Given the description of an element on the screen output the (x, y) to click on. 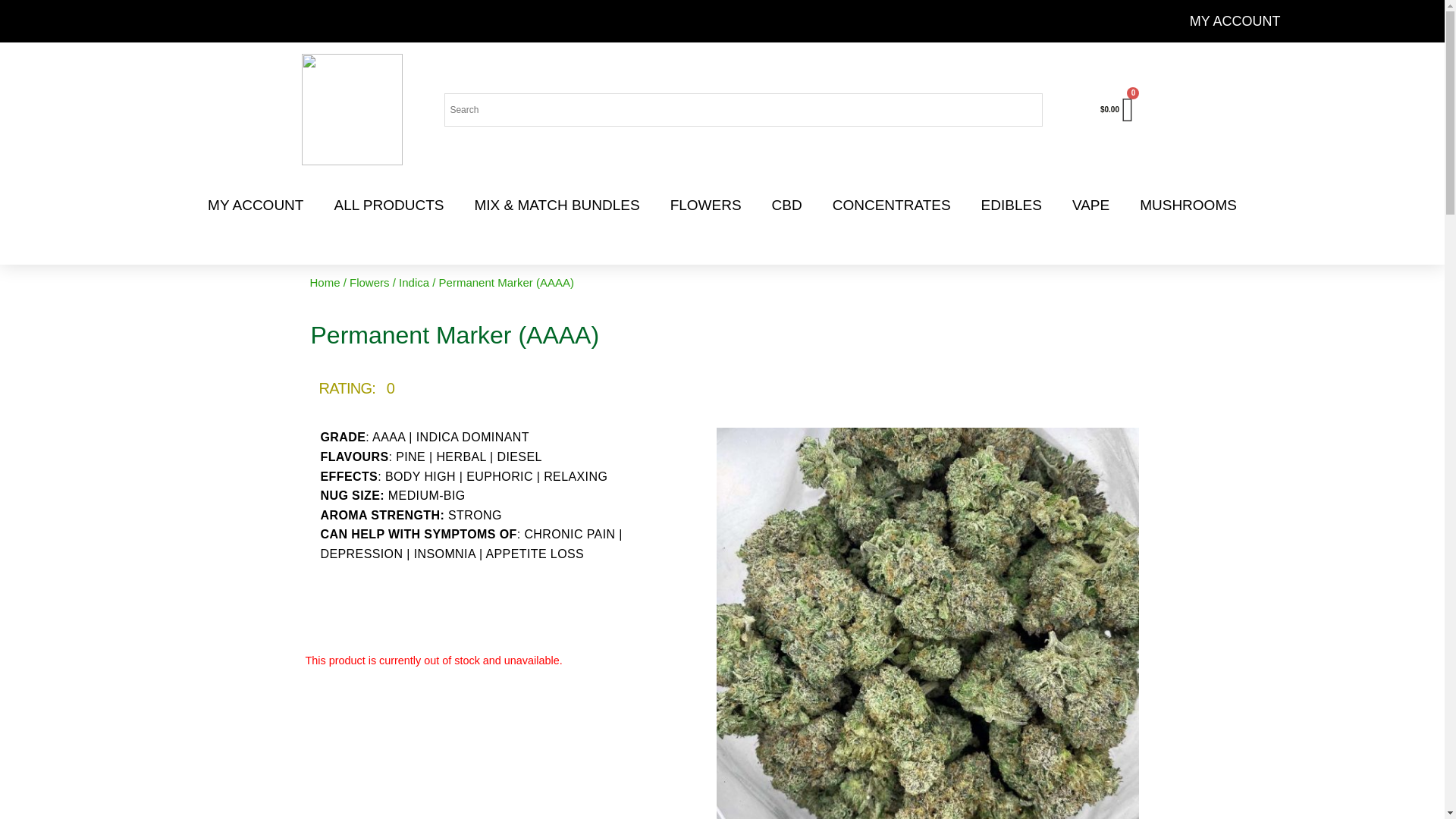
ALL PRODUCTS (388, 205)
MY ACCOUNT (1234, 21)
CBD (786, 205)
FLOWERS (706, 205)
MY ACCOUNT (255, 205)
CONCENTRATES (891, 205)
